Given the description of an element on the screen output the (x, y) to click on. 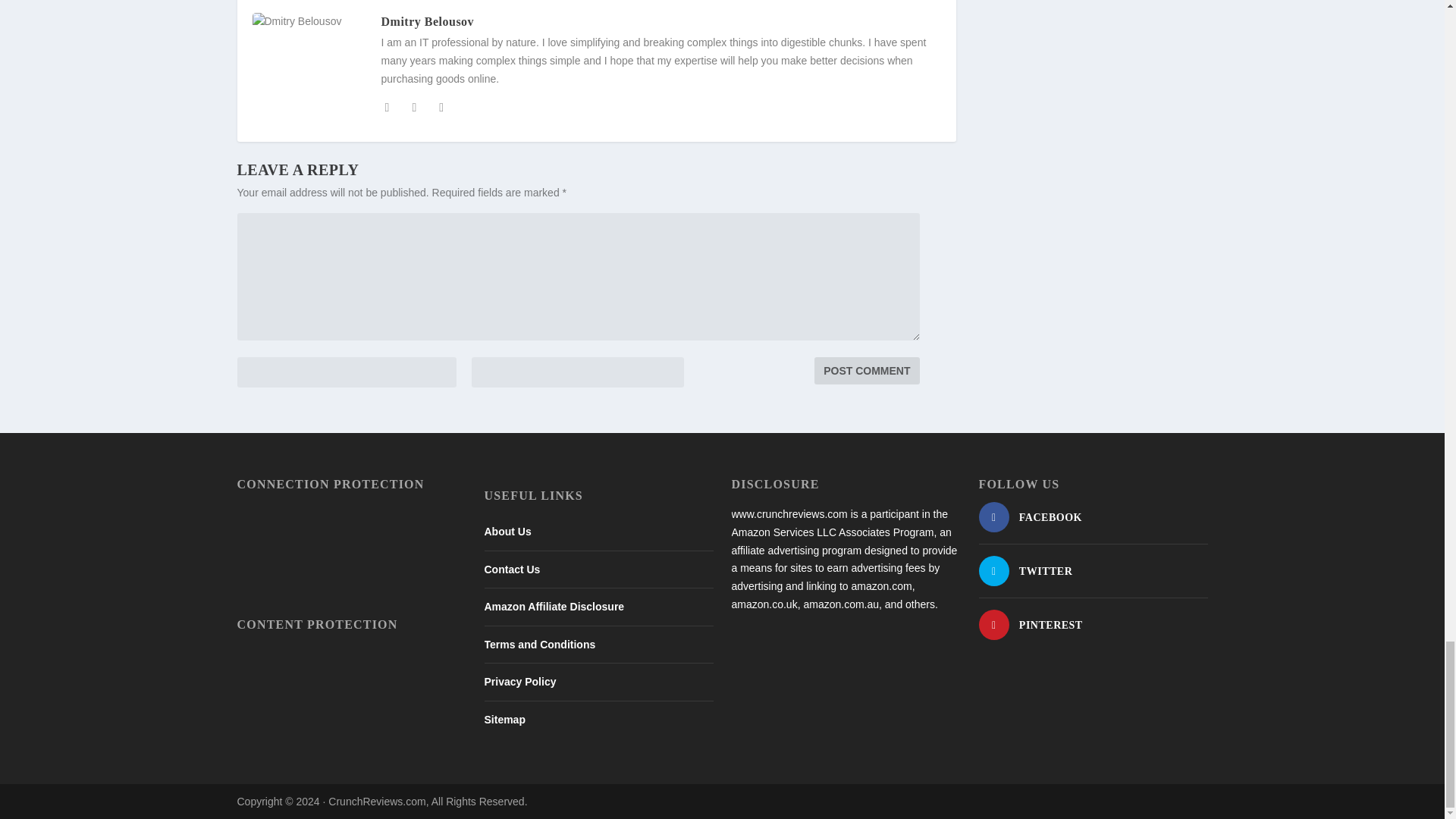
Post Comment (865, 370)
View all posts by Dmitry Belousov (427, 21)
